Given the description of an element on the screen output the (x, y) to click on. 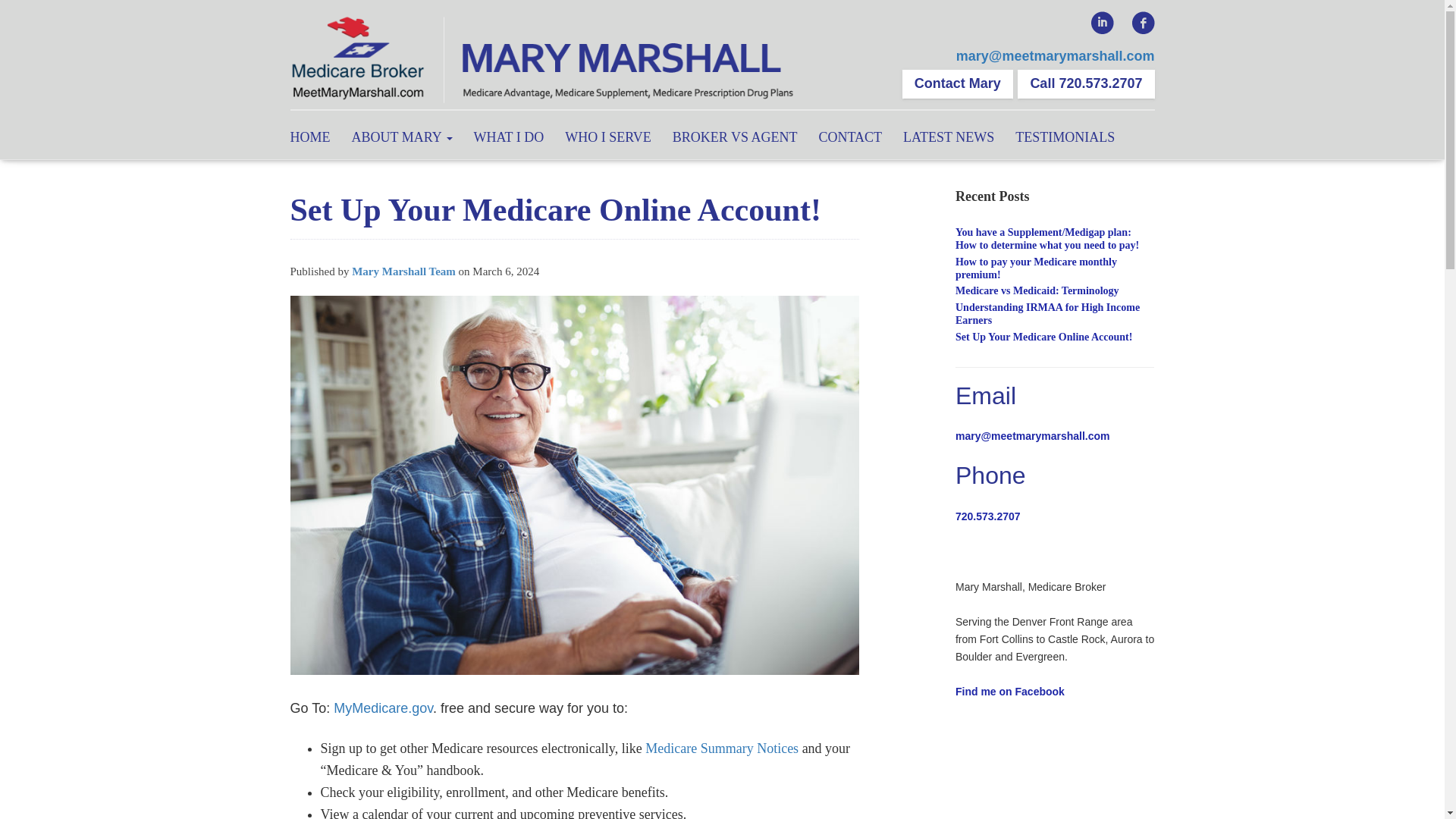
Latest News (948, 135)
720.573.2707 (987, 516)
Call 720.573.2707 (1085, 83)
Medicare Summary Notices (721, 748)
ABOUT MARY (402, 135)
TESTIMONIALS (1064, 135)
Meet Mary Marshall (542, 60)
CONTACT (850, 135)
Testimonials (1064, 135)
Medicare vs Medicaid: Terminology (1037, 290)
MyMedicare.gov (382, 708)
Understanding IRMAA for High Income Earners (1047, 313)
Mary Marshall Team (403, 271)
About Mary (402, 135)
LATEST NEWS (948, 135)
